Given the description of an element on the screen output the (x, y) to click on. 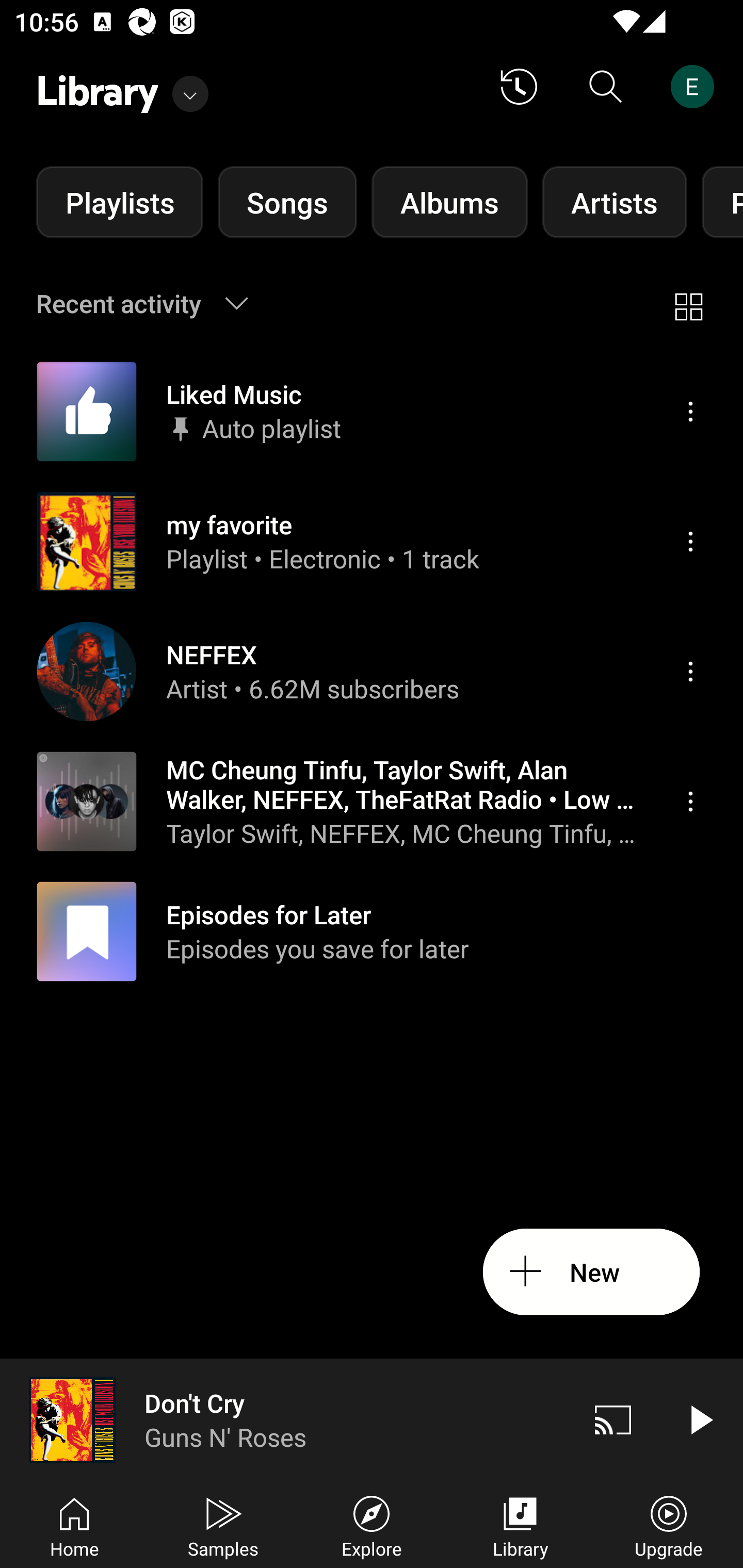
Show library landing selected Library (121, 86)
History (518, 86)
Search (605, 86)
Account (696, 86)
Recent activity selected Recent activity (154, 303)
Show in grid view (688, 303)
Menu (690, 411)
Menu (690, 540)
Menu (690, 671)
Menu (690, 801)
New (590, 1272)
Don't Cry Guns N' Roses (284, 1419)
Cast. Disconnected (612, 1419)
Play video (699, 1419)
Home (74, 1524)
Samples (222, 1524)
Explore (371, 1524)
Upgrade (668, 1524)
